Given the description of an element on the screen output the (x, y) to click on. 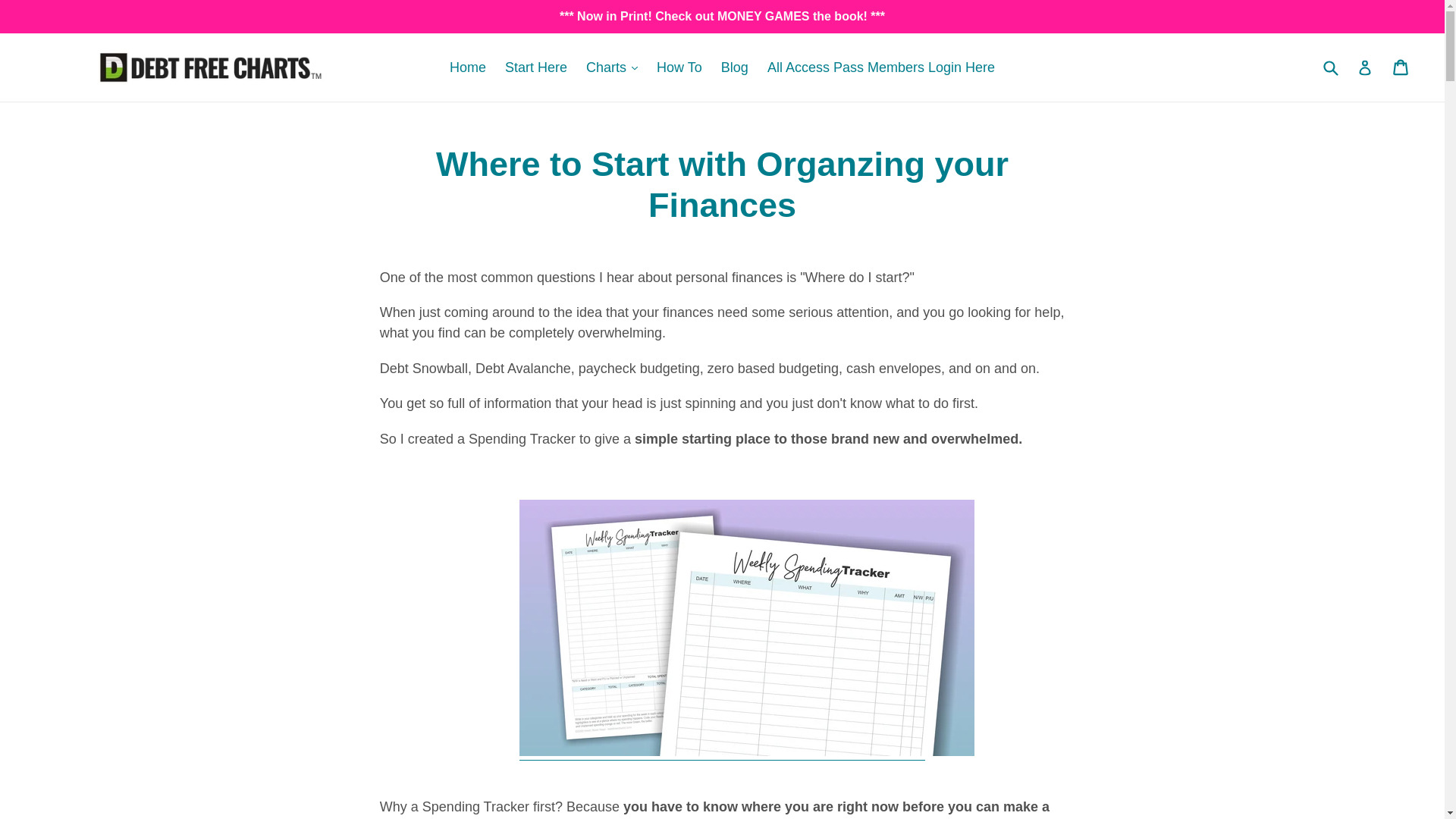
Home (467, 66)
Start Here (536, 66)
How To (679, 66)
All Access Pass Members Login Here (881, 66)
Blog (734, 66)
